Given the description of an element on the screen output the (x, y) to click on. 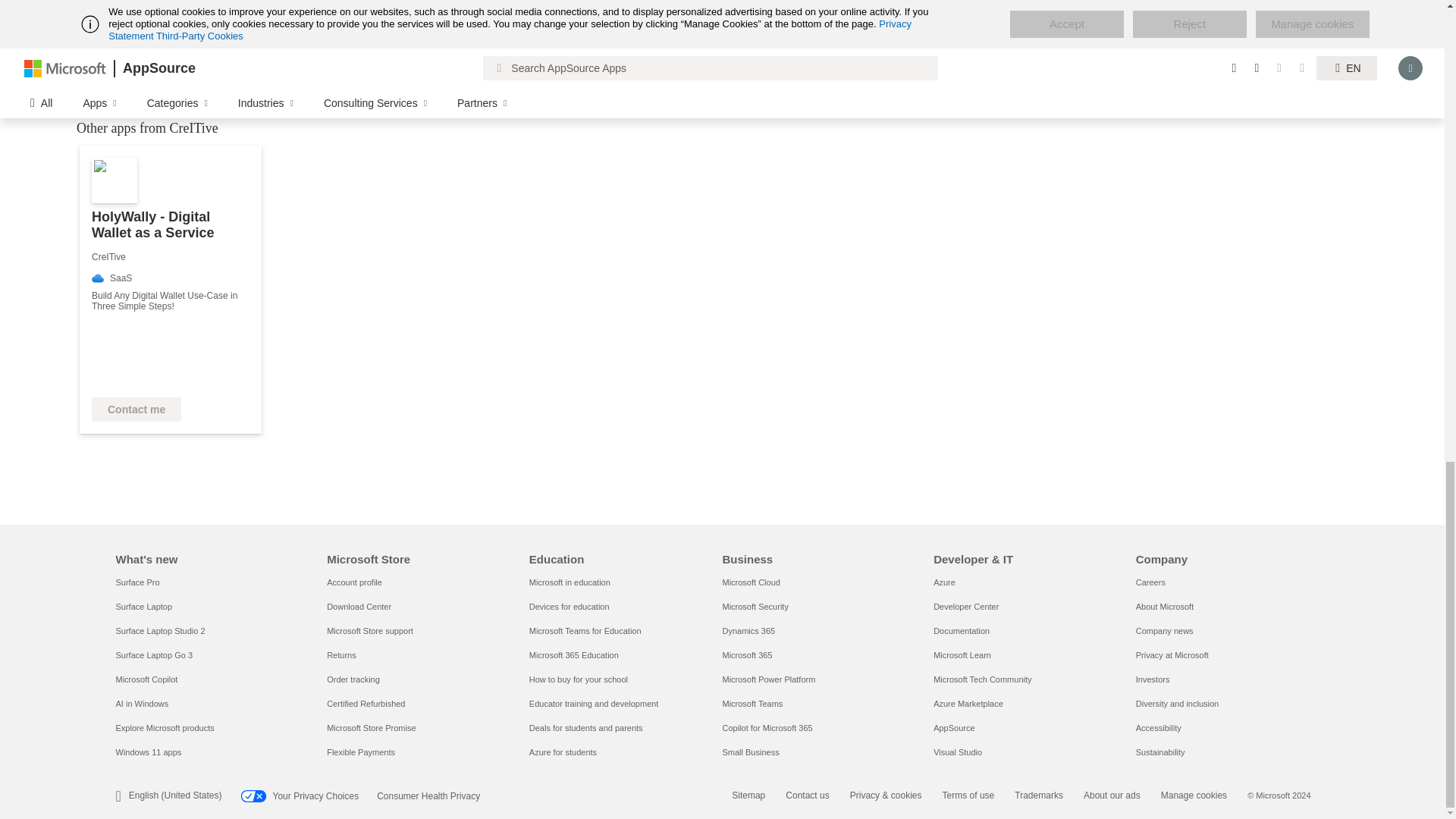
AI in Windows (141, 703)
Explore Microsoft products (164, 727)
Surface Pro (136, 582)
Surface Laptop (143, 605)
Windows 11 apps (147, 751)
Microsoft Copilot (146, 678)
Contact me (135, 409)
Account profile (353, 582)
Microsoft Store support (369, 630)
Surface Laptop Studio 2 (160, 630)
Surface Laptop Go 3 (153, 655)
Download Center (358, 605)
